Given the description of an element on the screen output the (x, y) to click on. 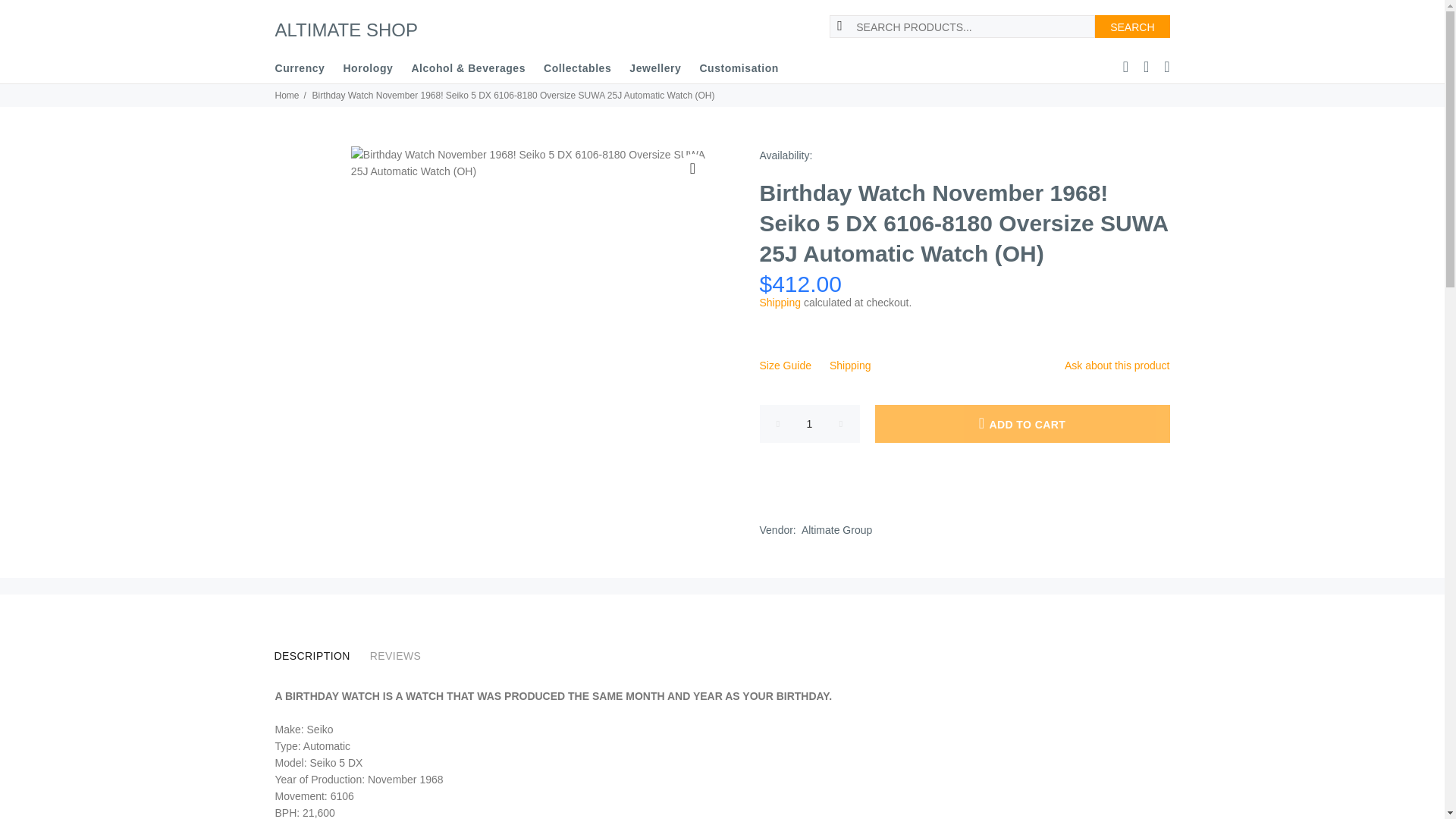
1 (810, 423)
